Given the description of an element on the screen output the (x, y) to click on. 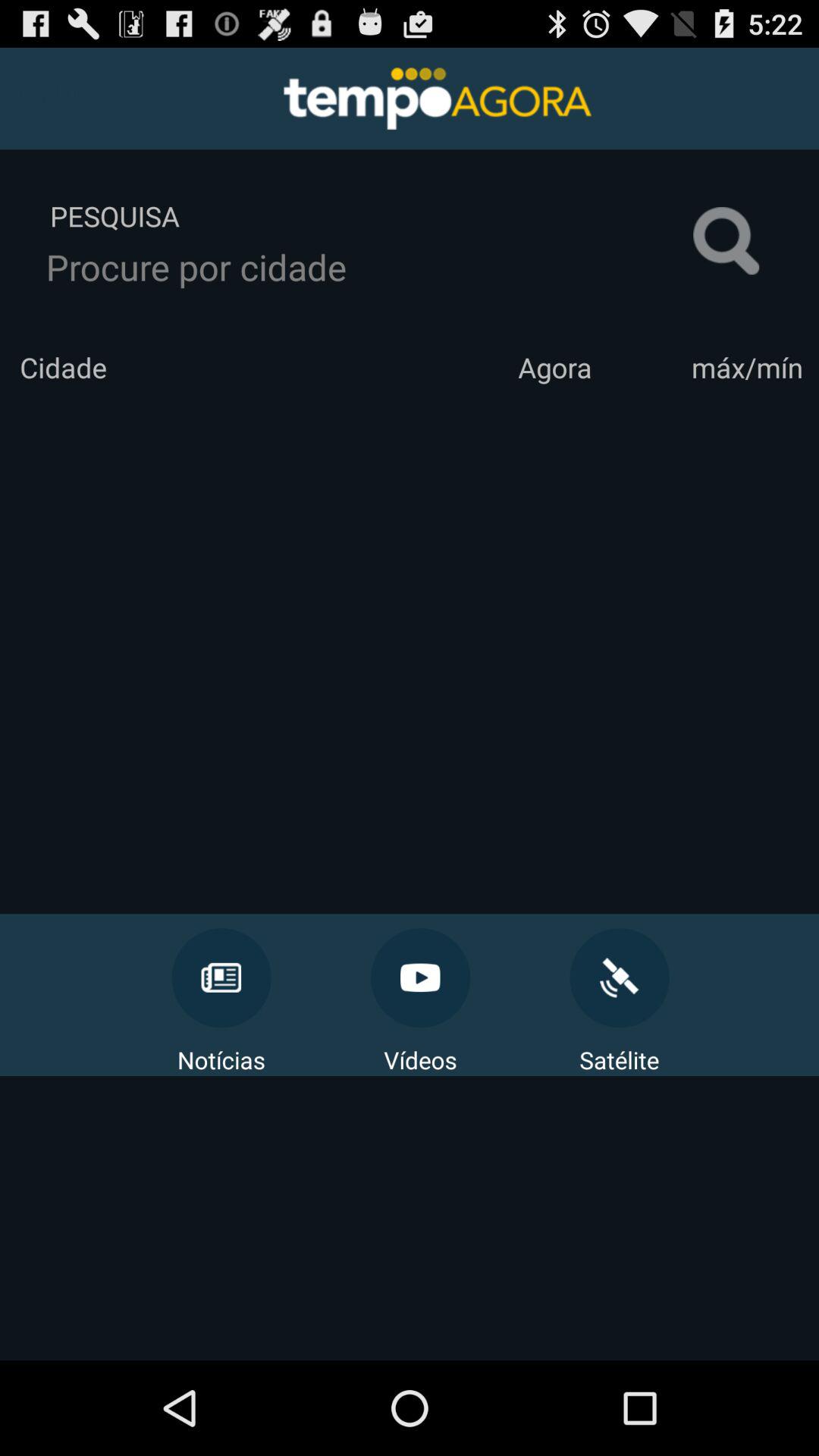
turn off the icon at the center (409, 649)
